Given the description of an element on the screen output the (x, y) to click on. 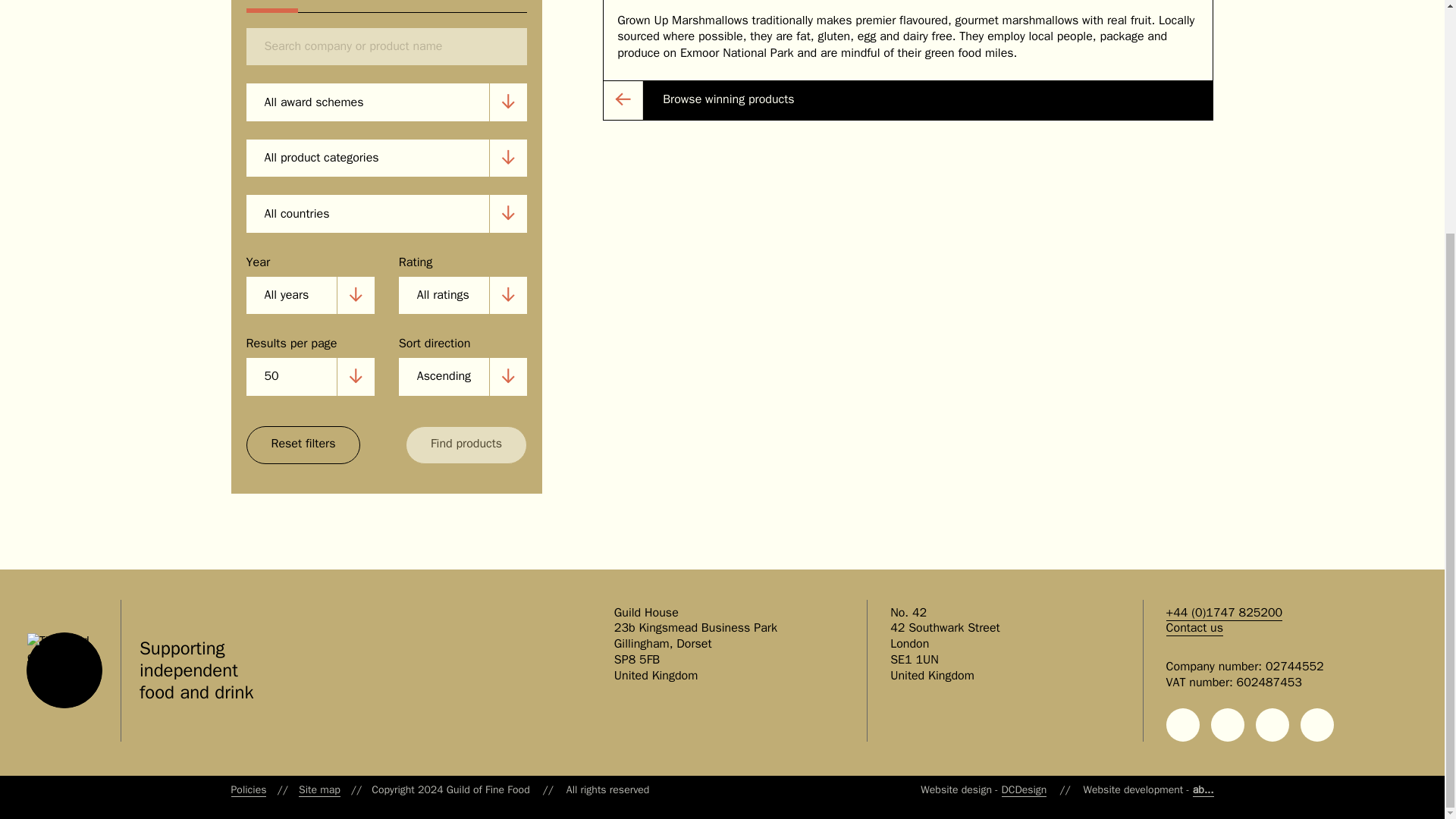
Site map (319, 789)
Policies (248, 789)
